Given the description of an element on the screen output the (x, y) to click on. 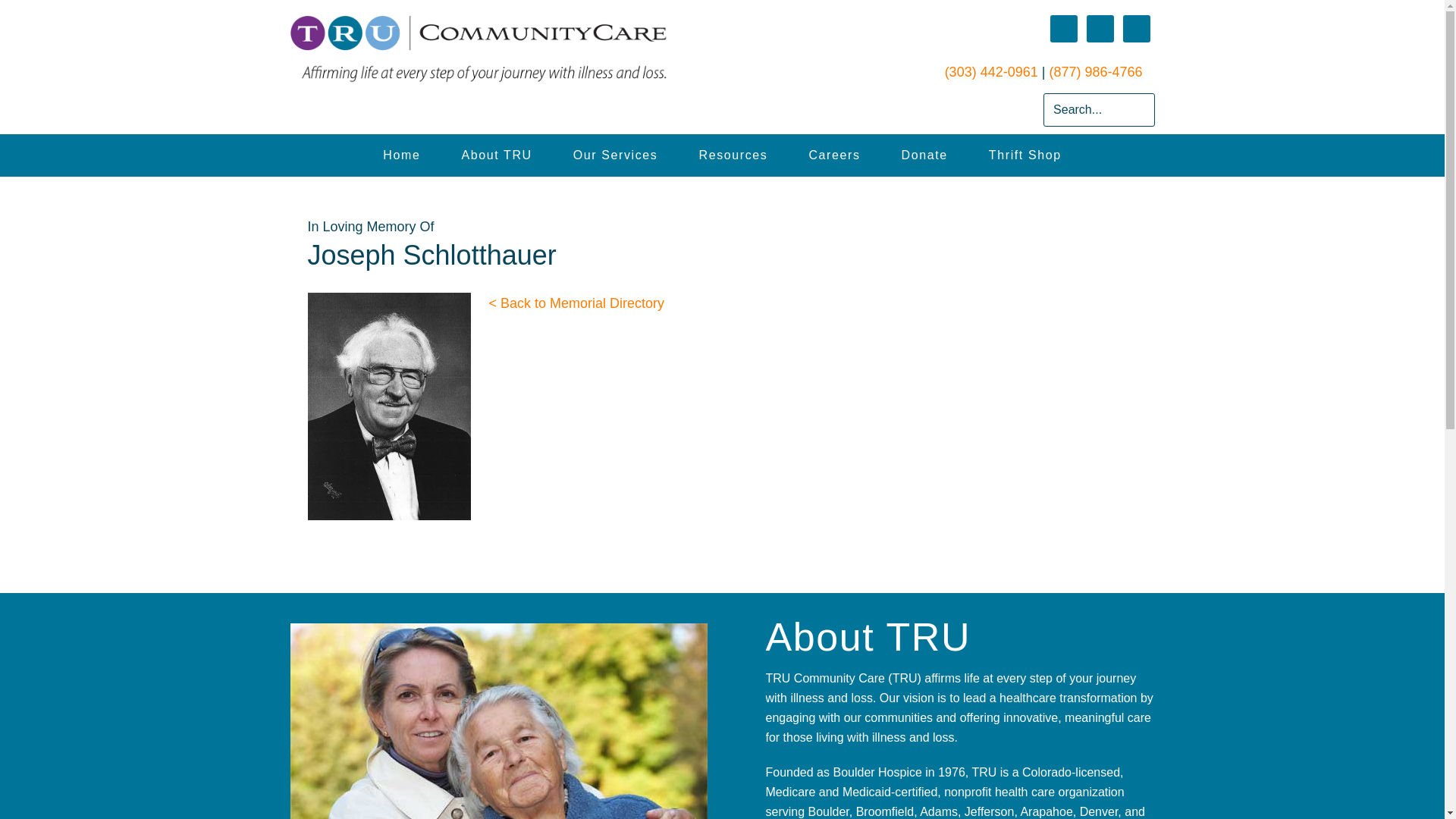
Our Services (614, 155)
About TRU (495, 155)
Resources (731, 155)
Home (401, 155)
TRU Community Care (401, 155)
TRU (527, 48)
TRU Hospice Boulder (495, 155)
Boulder Hospice Services (614, 155)
